Given the description of an element on the screen output the (x, y) to click on. 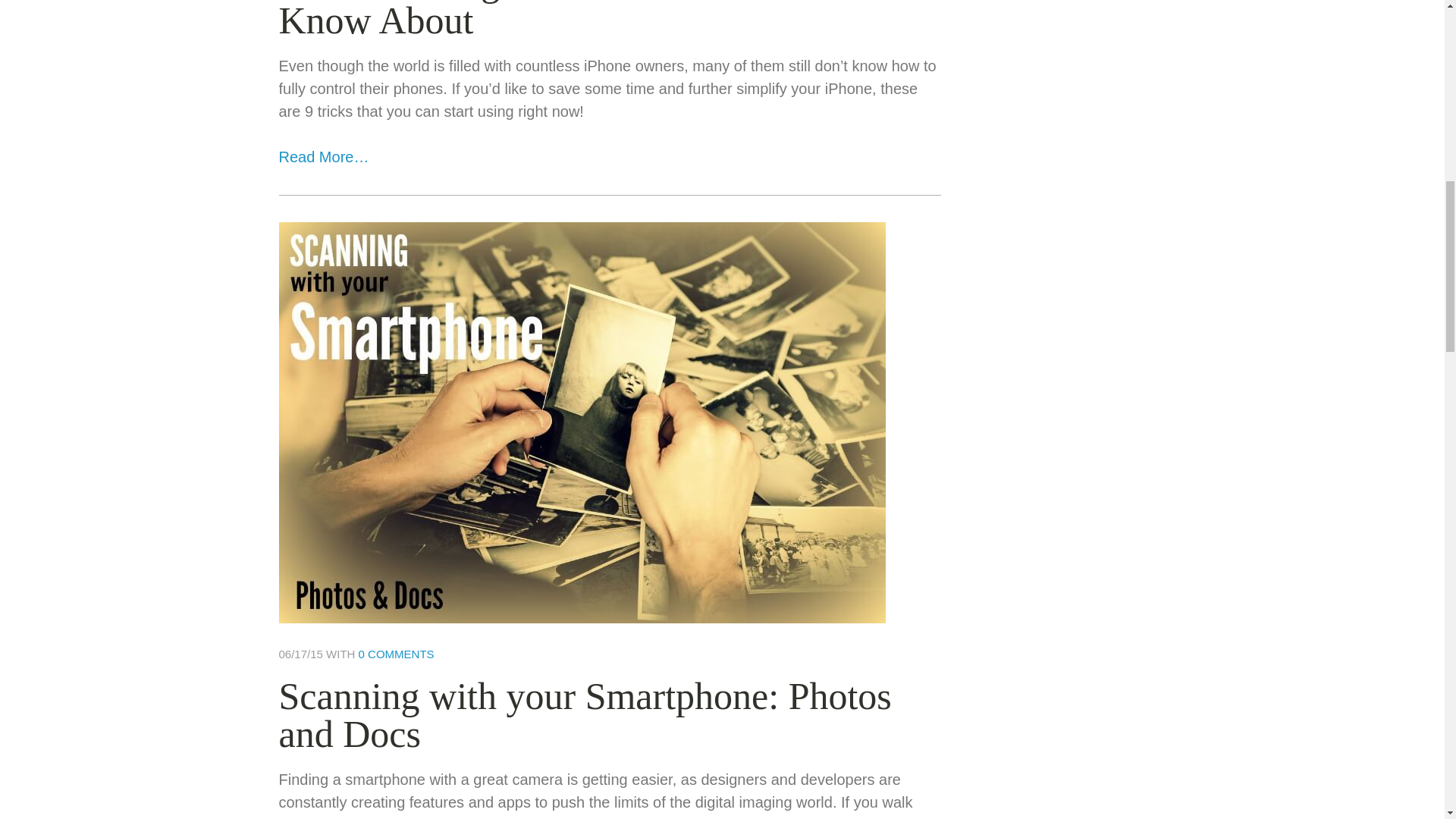
Scanning with your Smartphone: Photos and Docs (585, 714)
0 COMMENTS (395, 653)
9 Time Saving iPhone Tricks You Should Know About (592, 20)
